Given the description of an element on the screen output the (x, y) to click on. 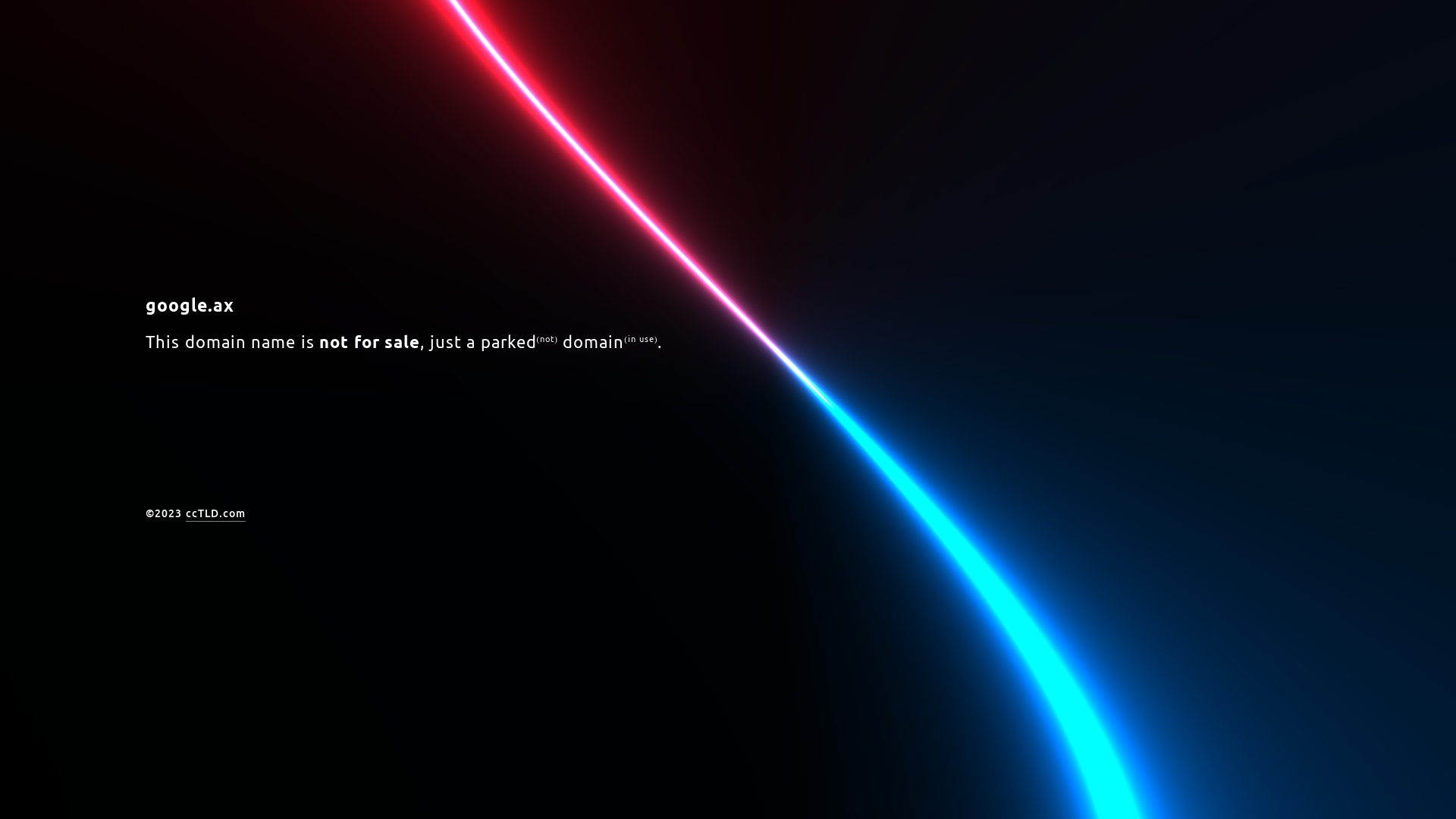
ccTLD.com Element type: text (214, 514)
